Given the description of an element on the screen output the (x, y) to click on. 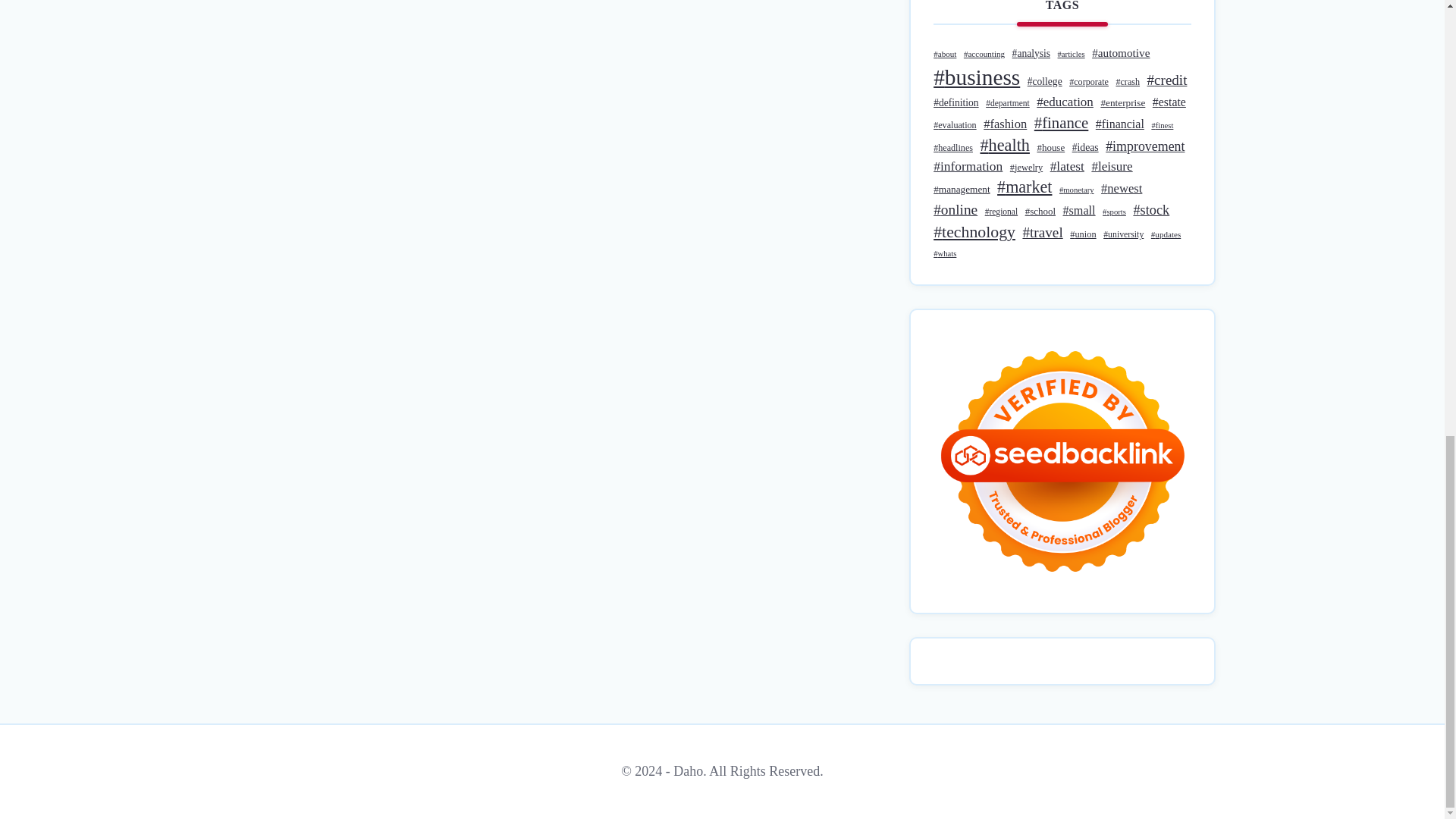
Seedbacklink (1062, 460)
